Given the description of an element on the screen output the (x, y) to click on. 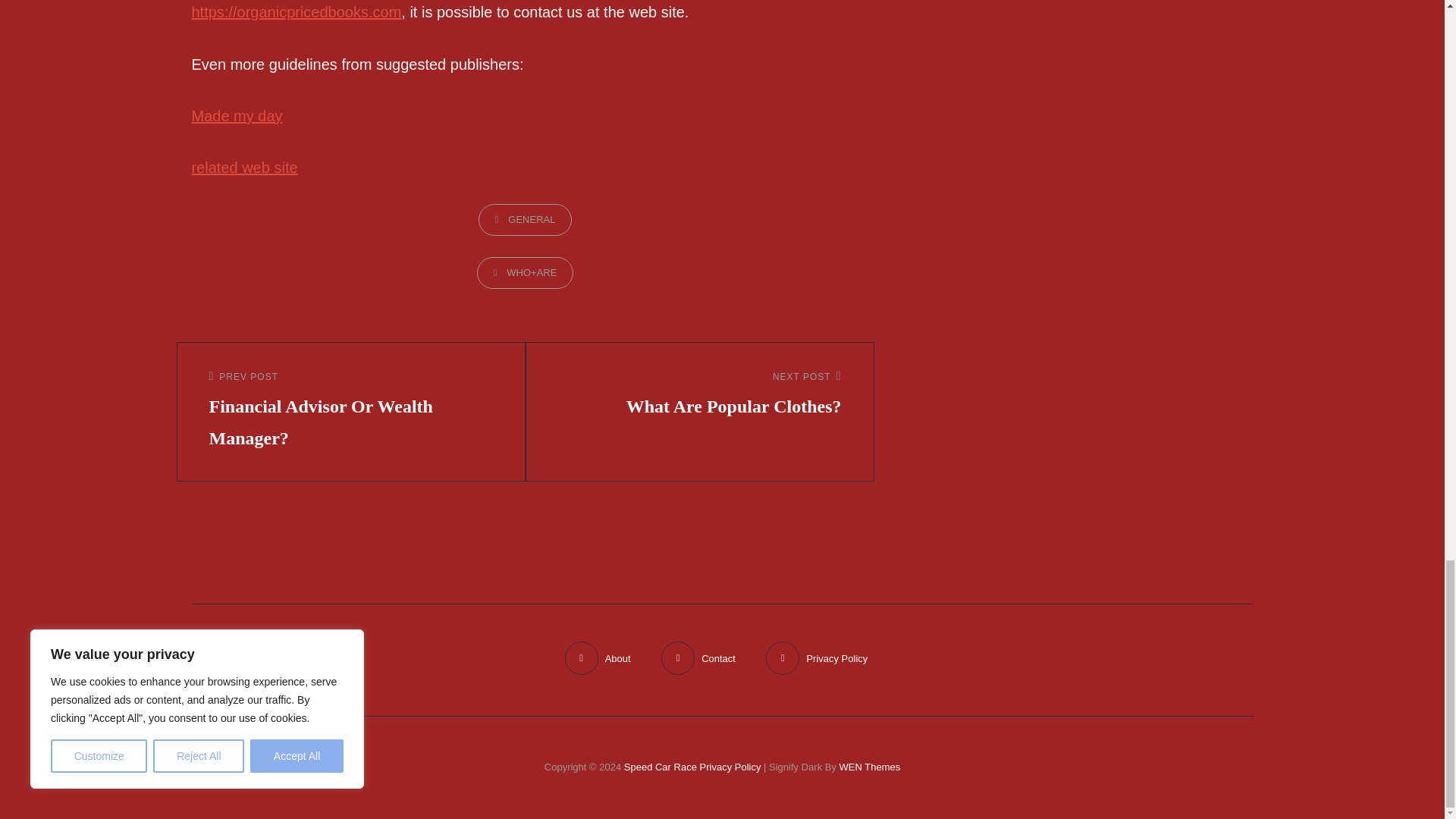
Made my day (351, 411)
GENERAL (236, 115)
related web site (525, 219)
